Given the description of an element on the screen output the (x, y) to click on. 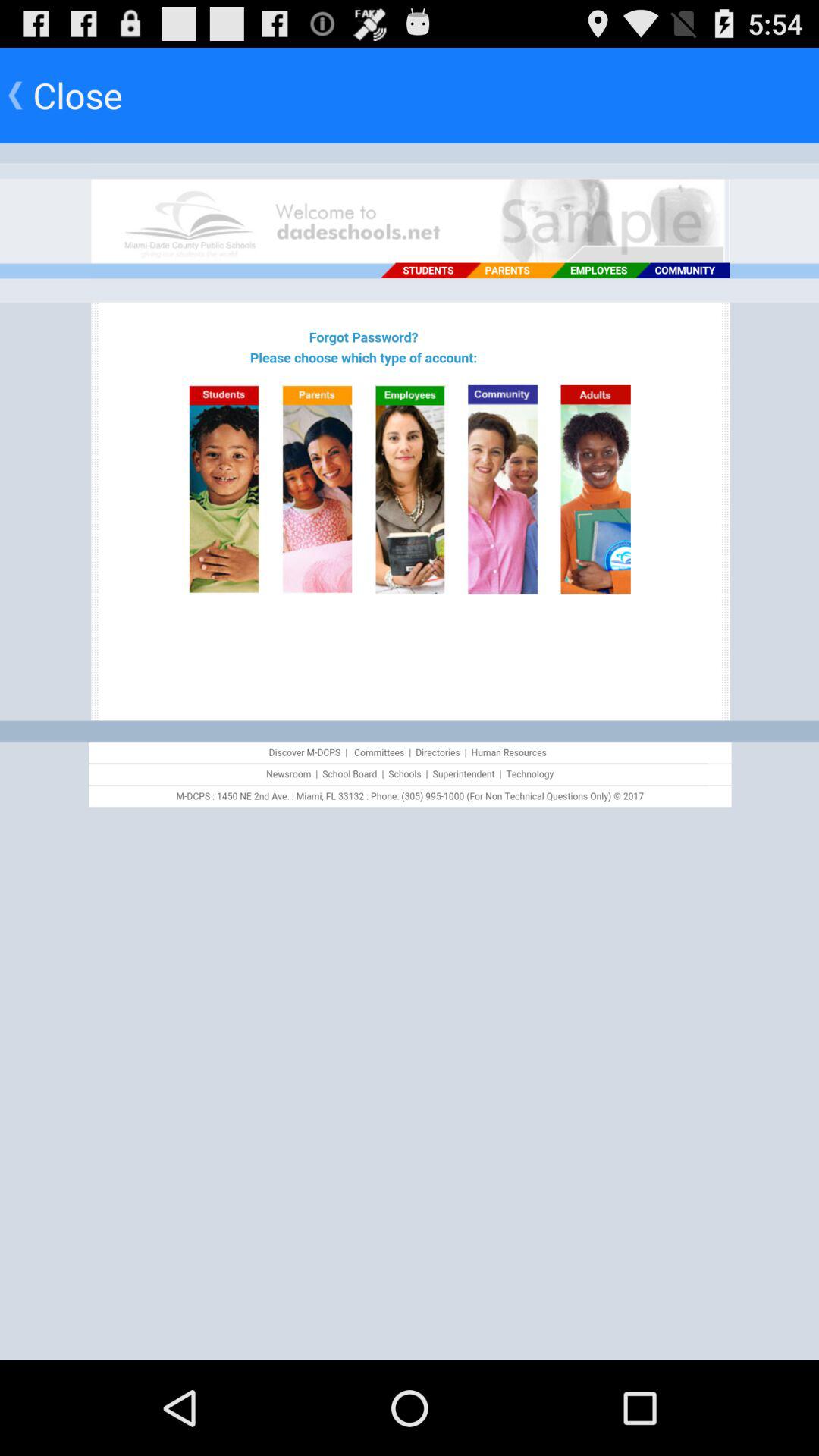
advertisement page (409, 751)
